Given the description of an element on the screen output the (x, y) to click on. 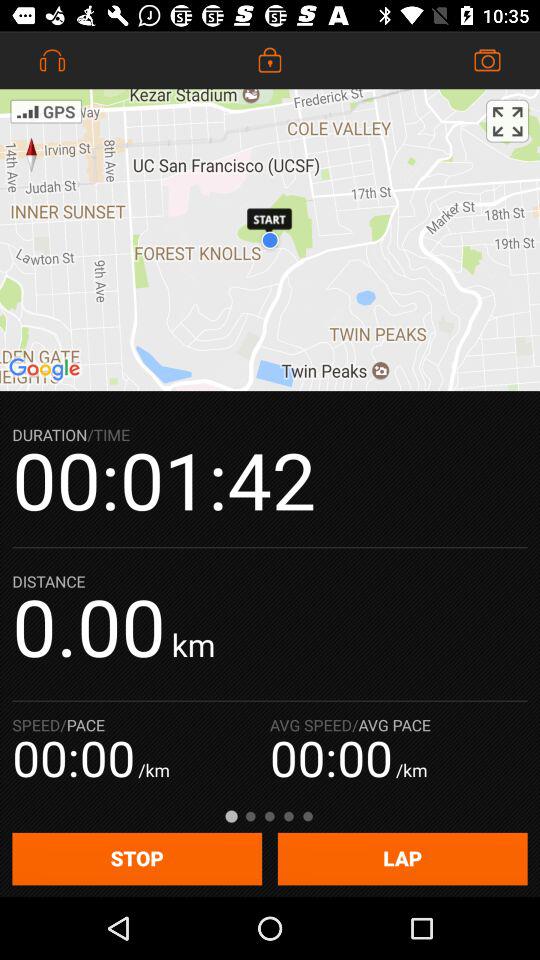
open stop item (137, 858)
